Given the description of an element on the screen output the (x, y) to click on. 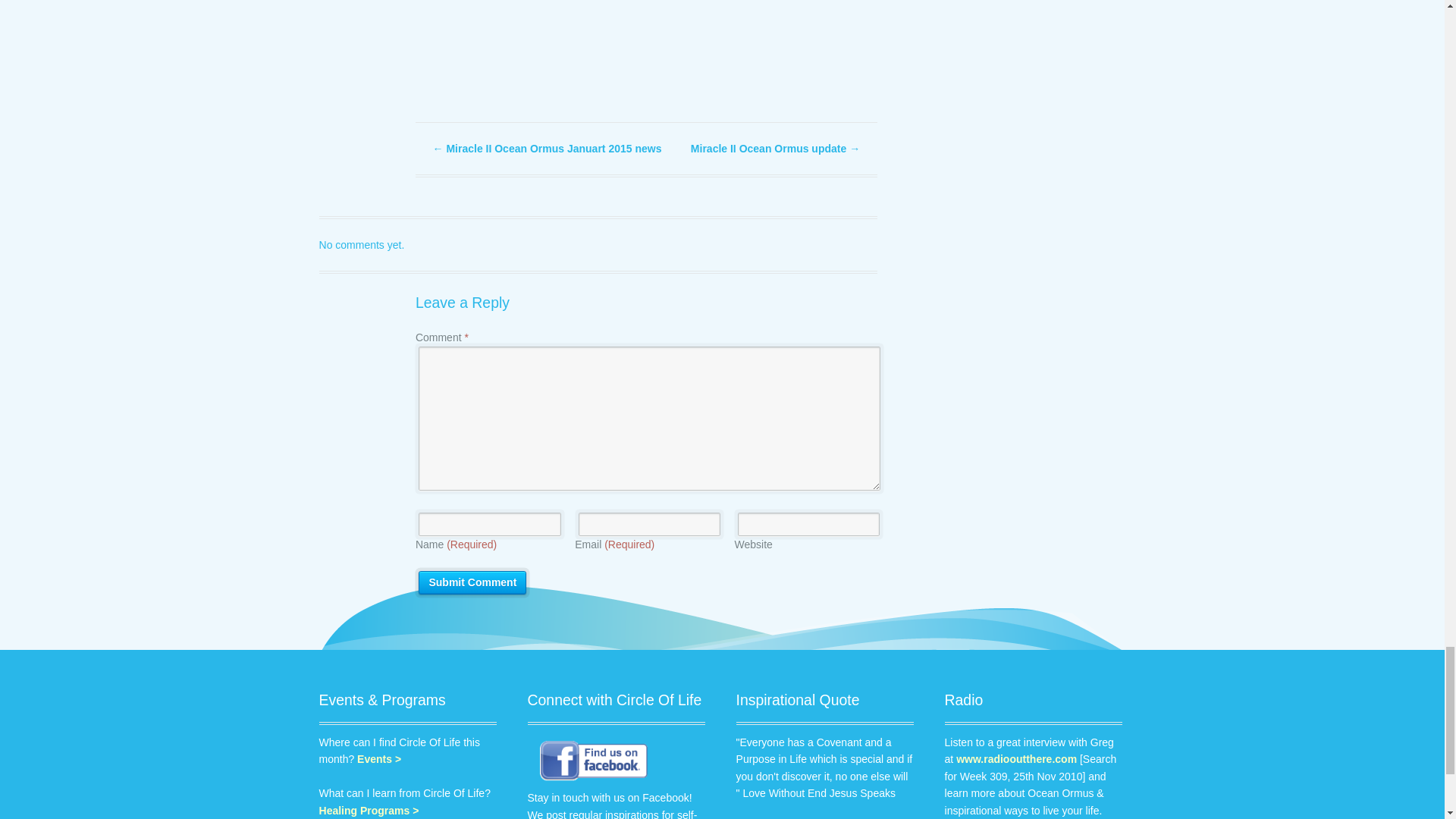
Submit Comment (472, 582)
Submit Comment (472, 582)
